Given the description of an element on the screen output the (x, y) to click on. 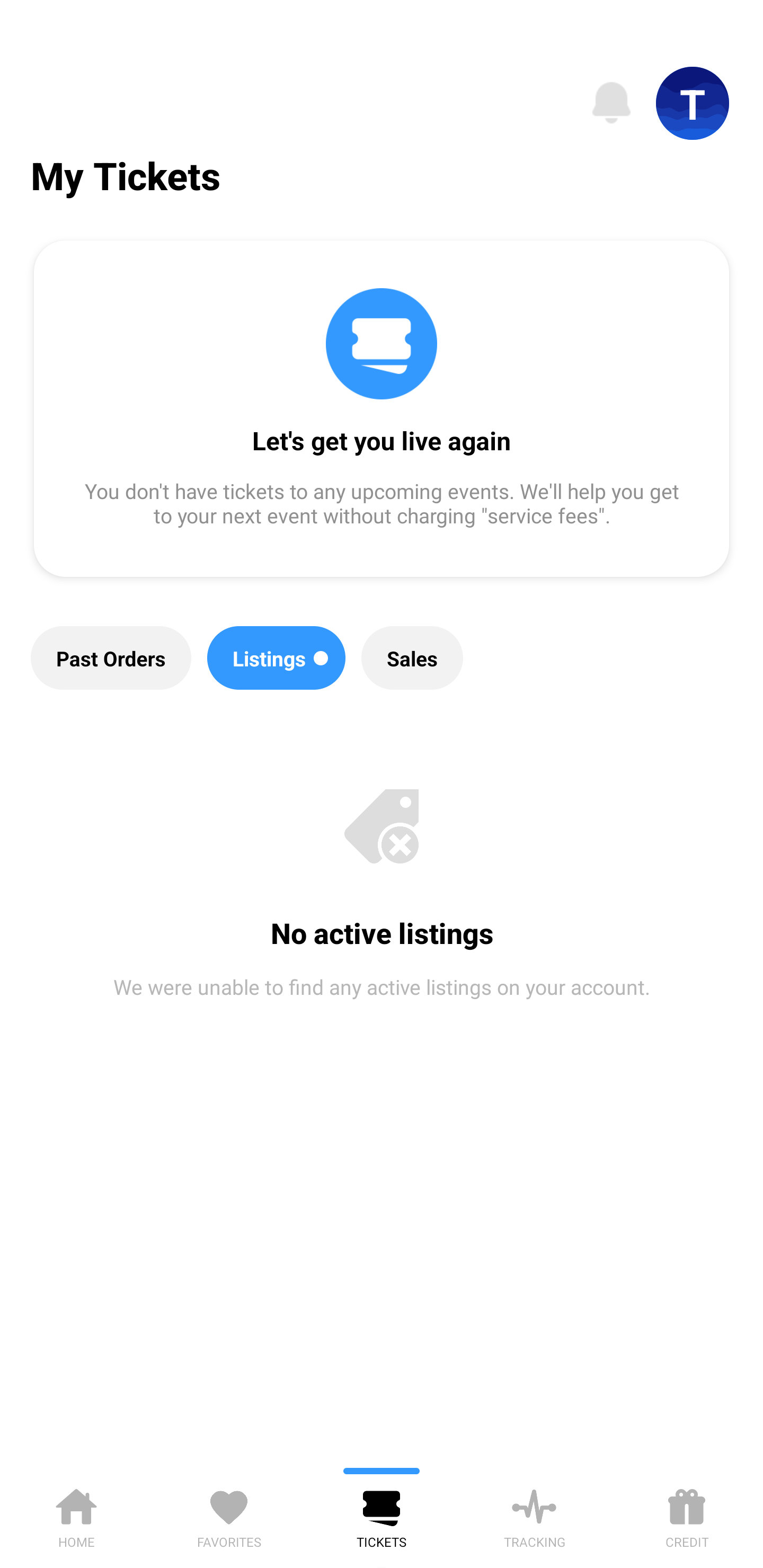
T (692, 103)
Past Orders (110, 657)
Listings (276, 657)
Sales (412, 657)
HOME (76, 1515)
FAVORITES (228, 1515)
TICKETS (381, 1515)
TRACKING (533, 1515)
CREDIT (686, 1515)
